Given the description of an element on the screen output the (x, y) to click on. 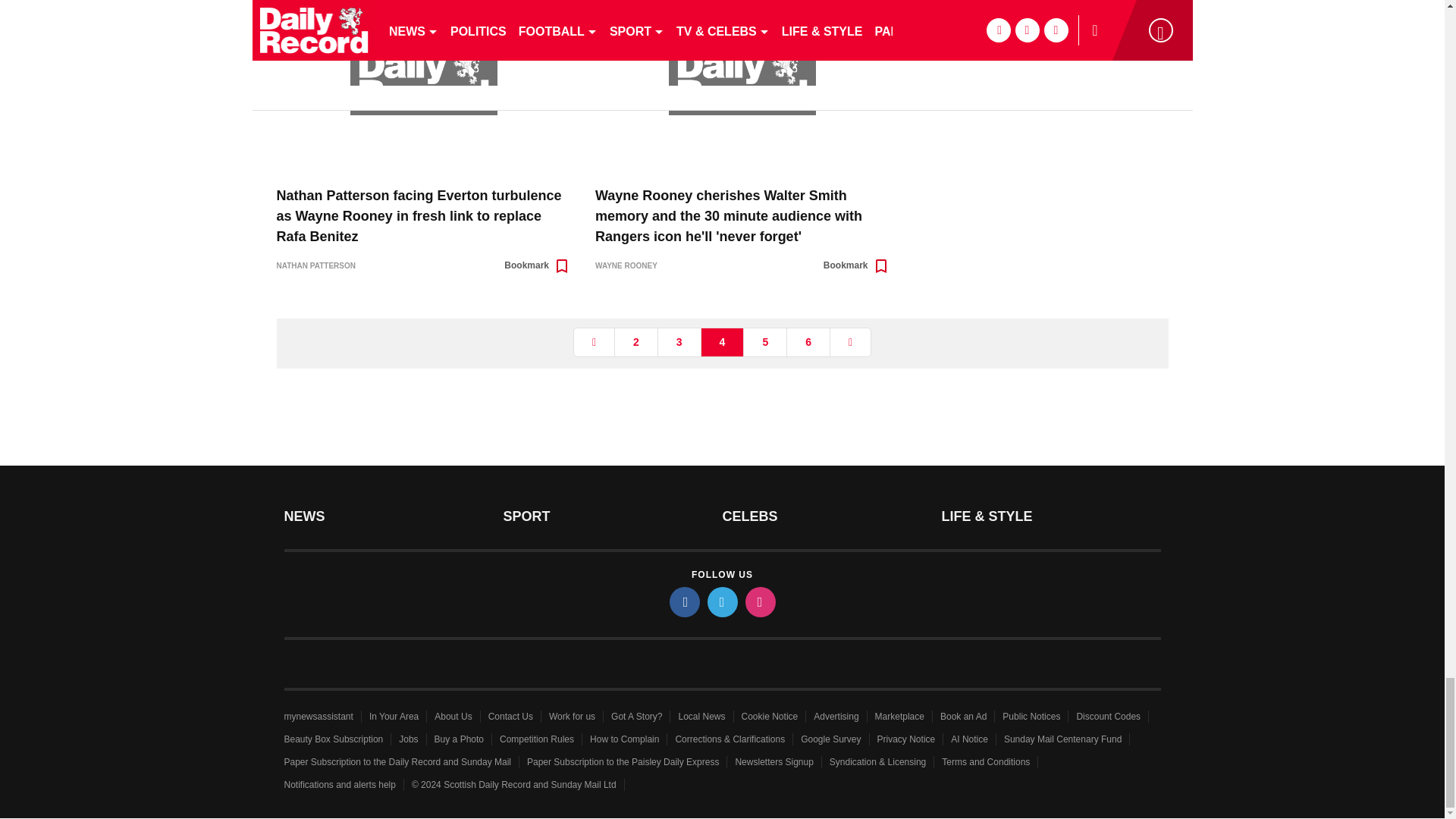
facebook (683, 602)
twitter (721, 602)
instagram (759, 602)
